Given the description of an element on the screen output the (x, y) to click on. 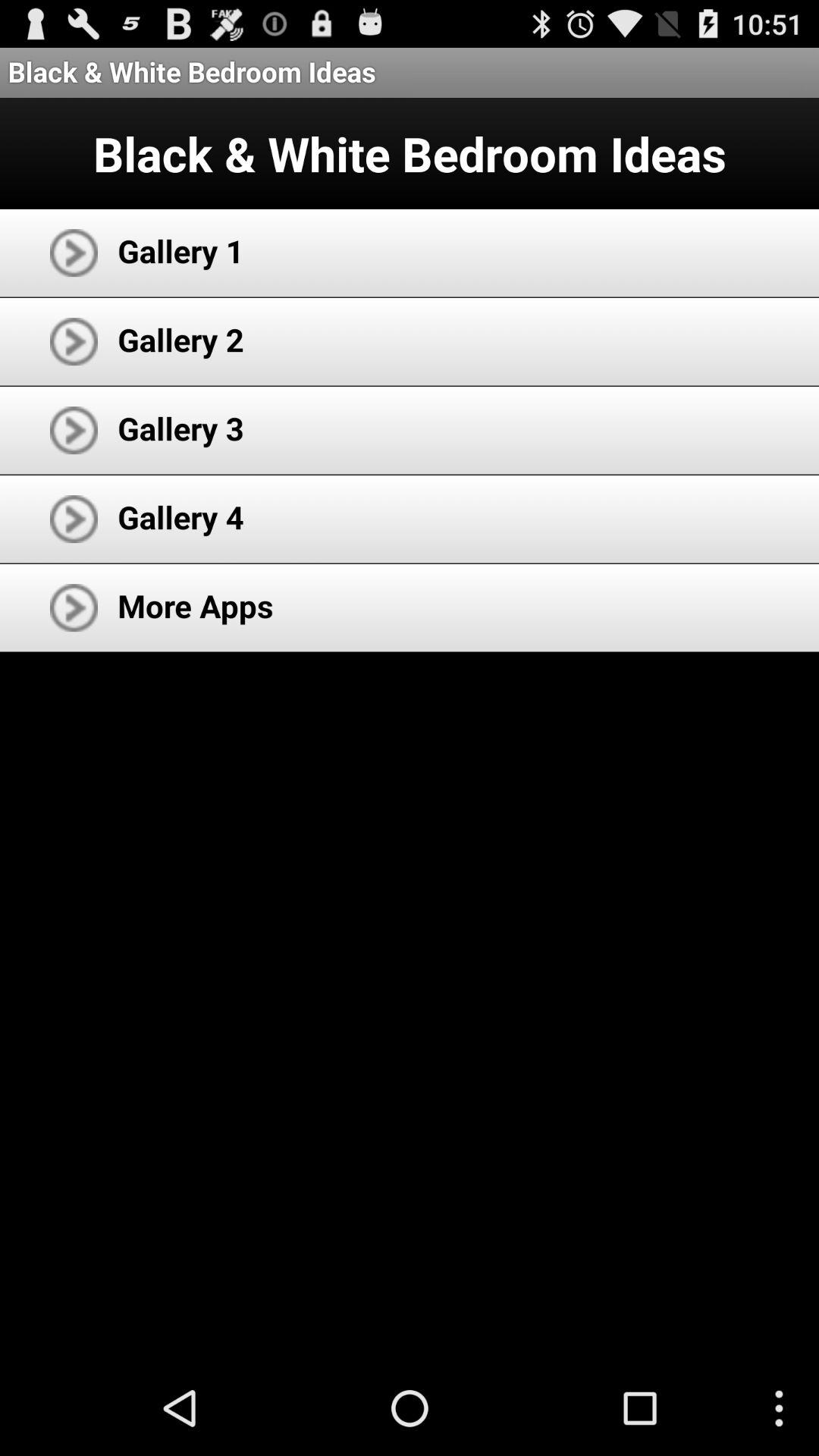
scroll to gallery 3 icon (180, 427)
